Given the description of an element on the screen output the (x, y) to click on. 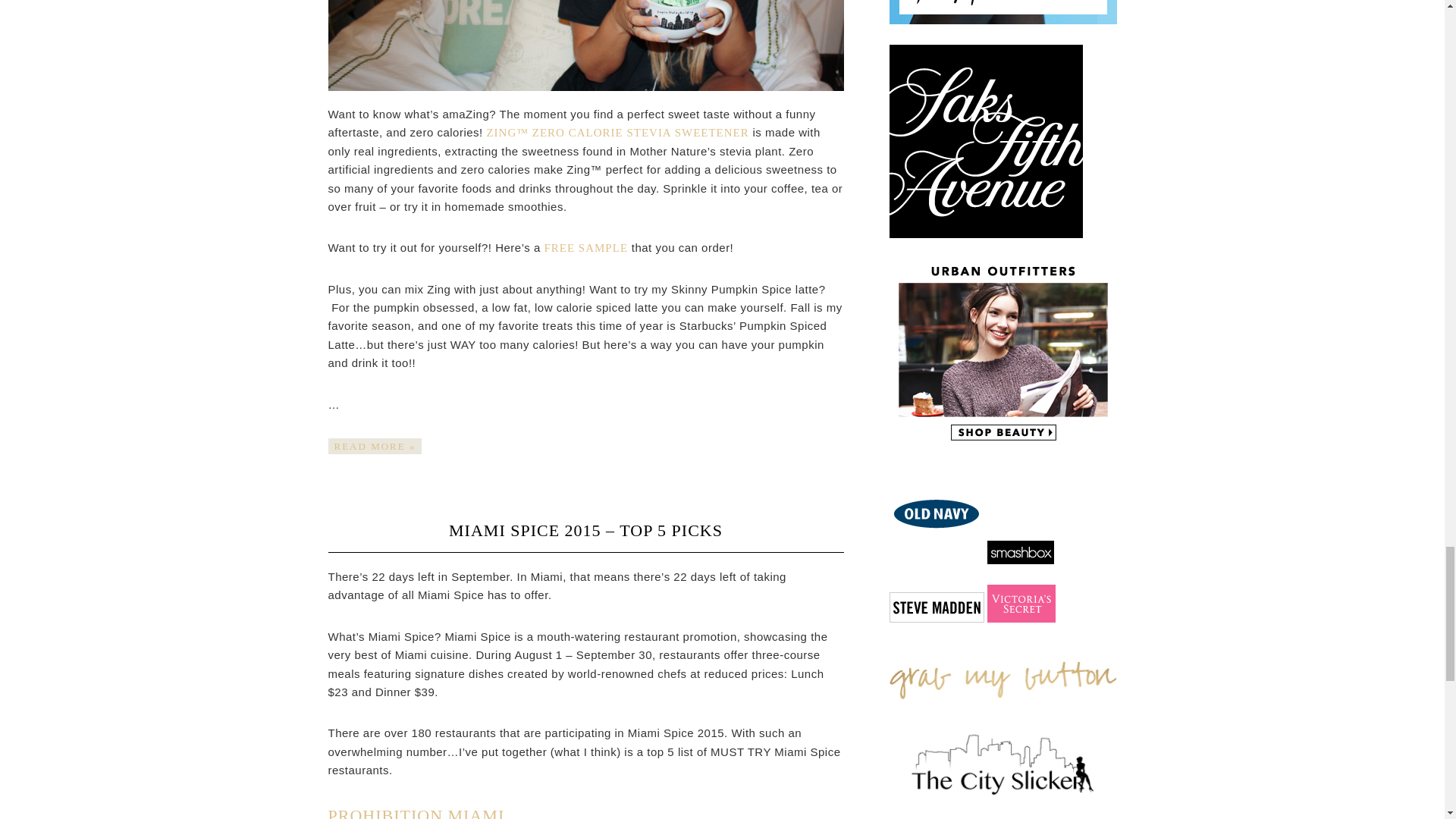
The City Slicker (1003, 762)
PROHIBITION MIAMI (415, 812)
ZING (501, 132)
FREE SAMPLE (585, 247)
ZERO CALORIE STEVIA SWEETENER (638, 132)
